Given the description of an element on the screen output the (x, y) to click on. 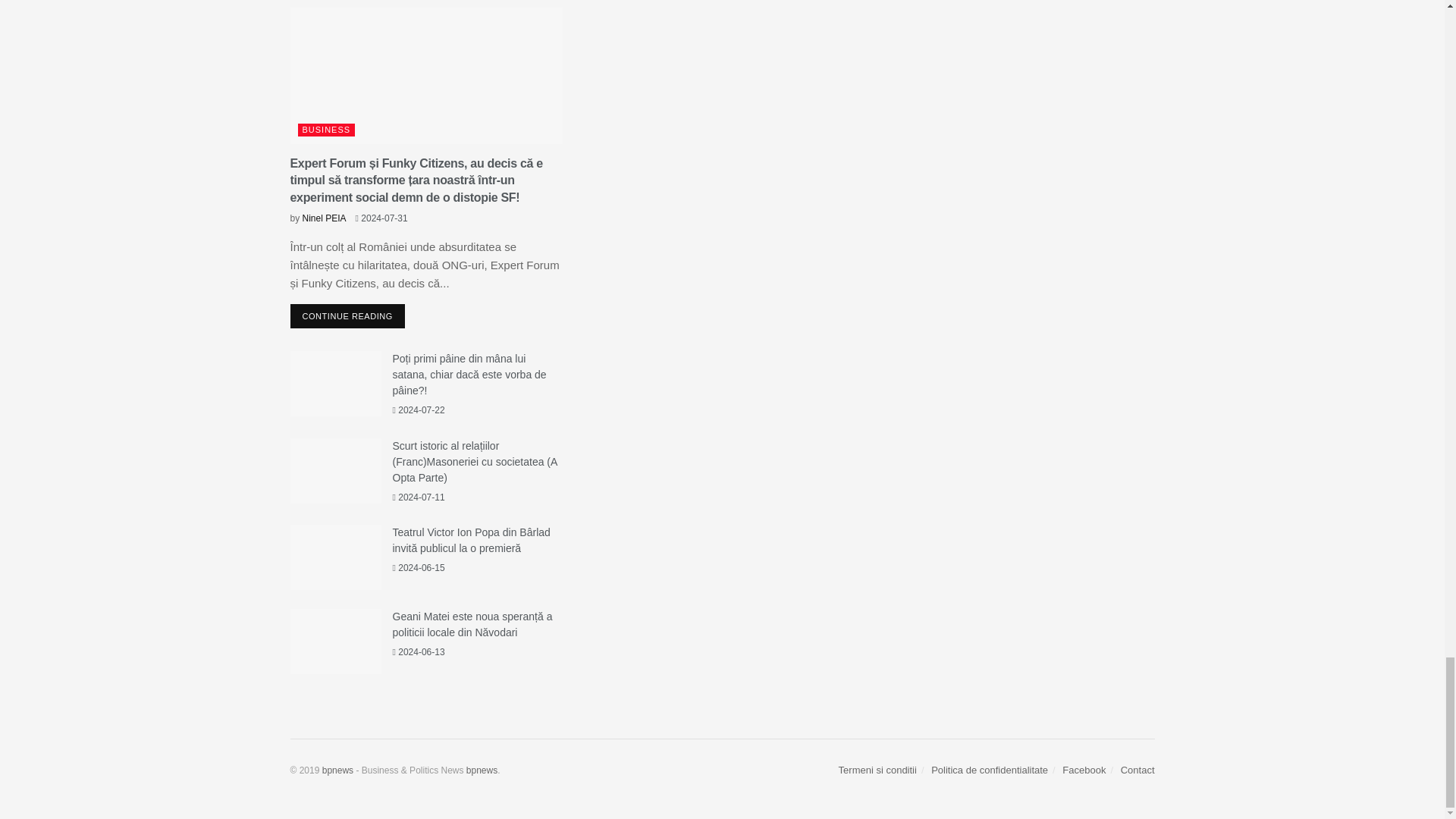
bpnews (481, 769)
